Given the description of an element on the screen output the (x, y) to click on. 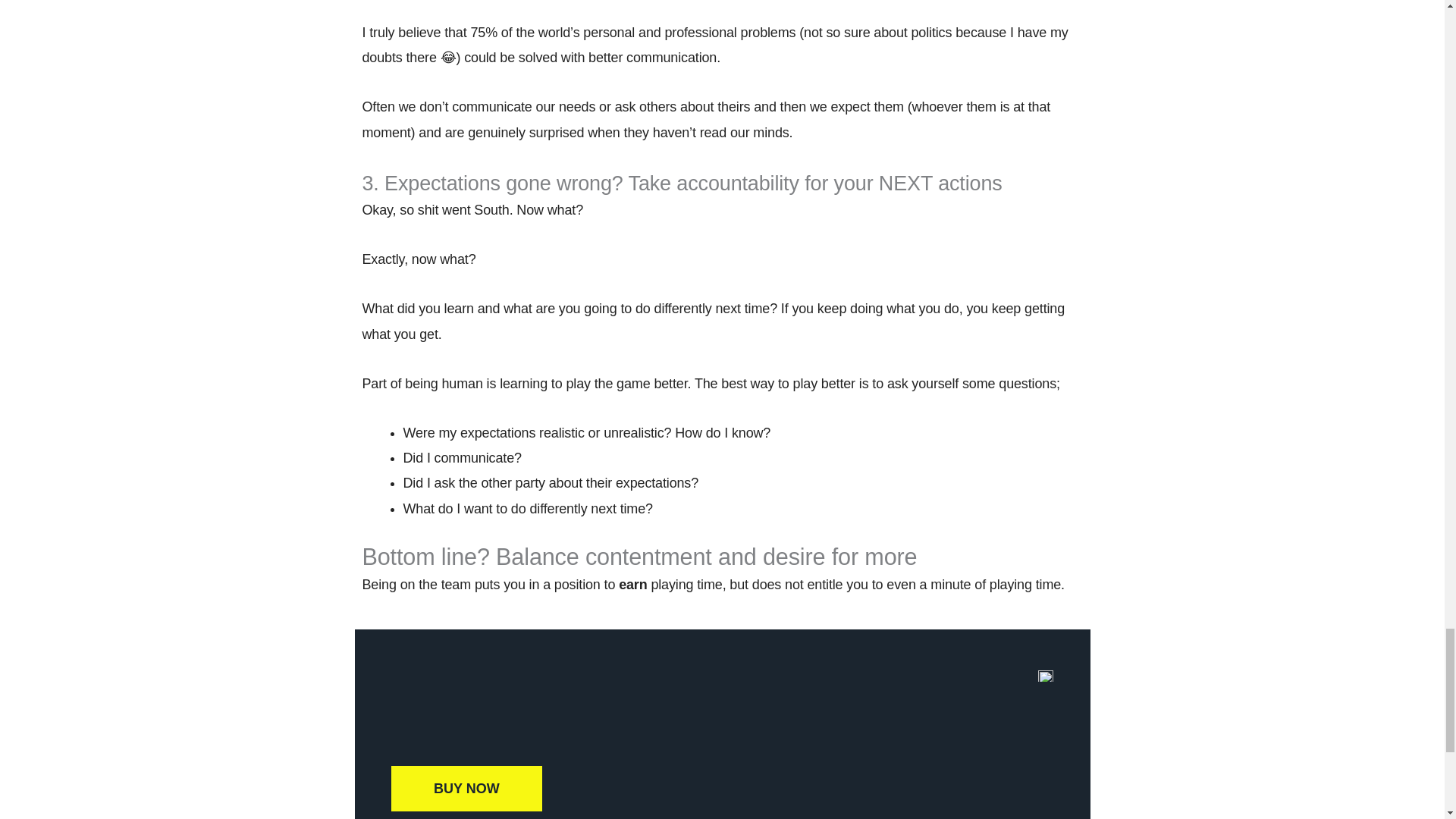
BUY NOW (466, 788)
